Given the description of an element on the screen output the (x, y) to click on. 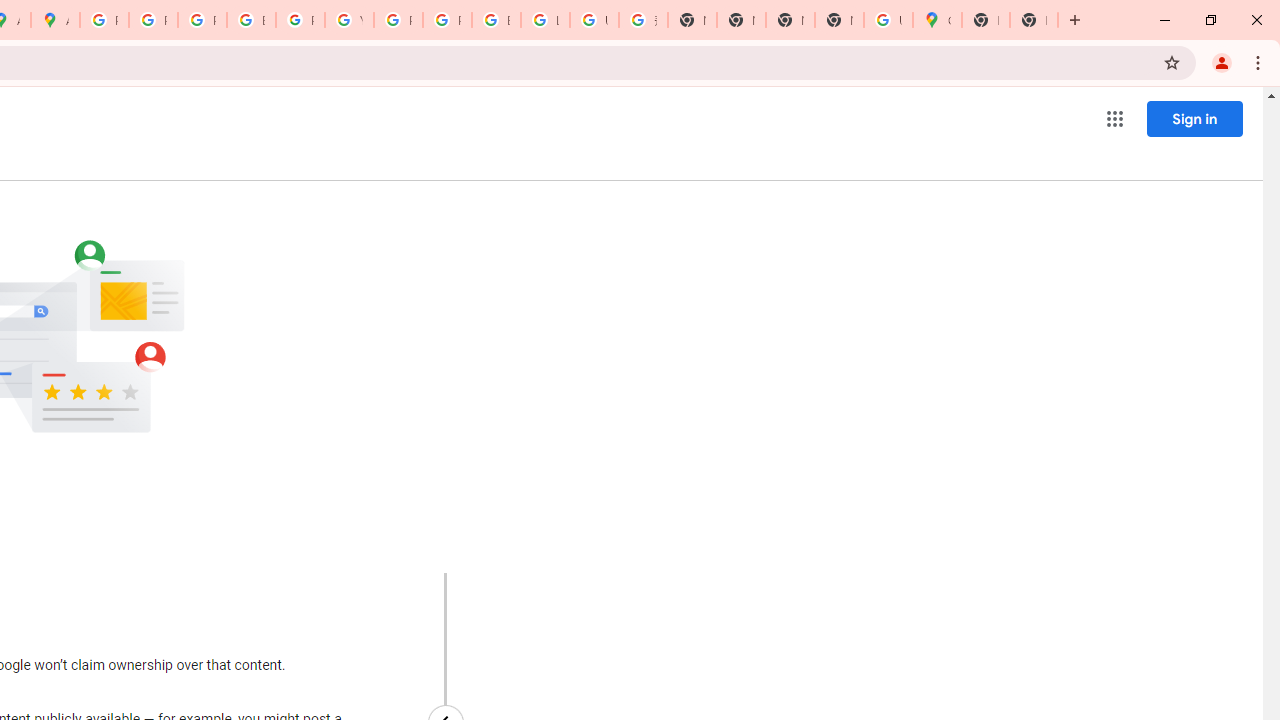
Use Google Maps in Space - Google Maps Help (888, 20)
Privacy Help Center - Policies Help (201, 20)
New Tab (839, 20)
Privacy Help Center - Policies Help (153, 20)
YouTube (349, 20)
Policy Accountability and Transparency - Transparency Center (104, 20)
